Given the description of an element on the screen output the (x, y) to click on. 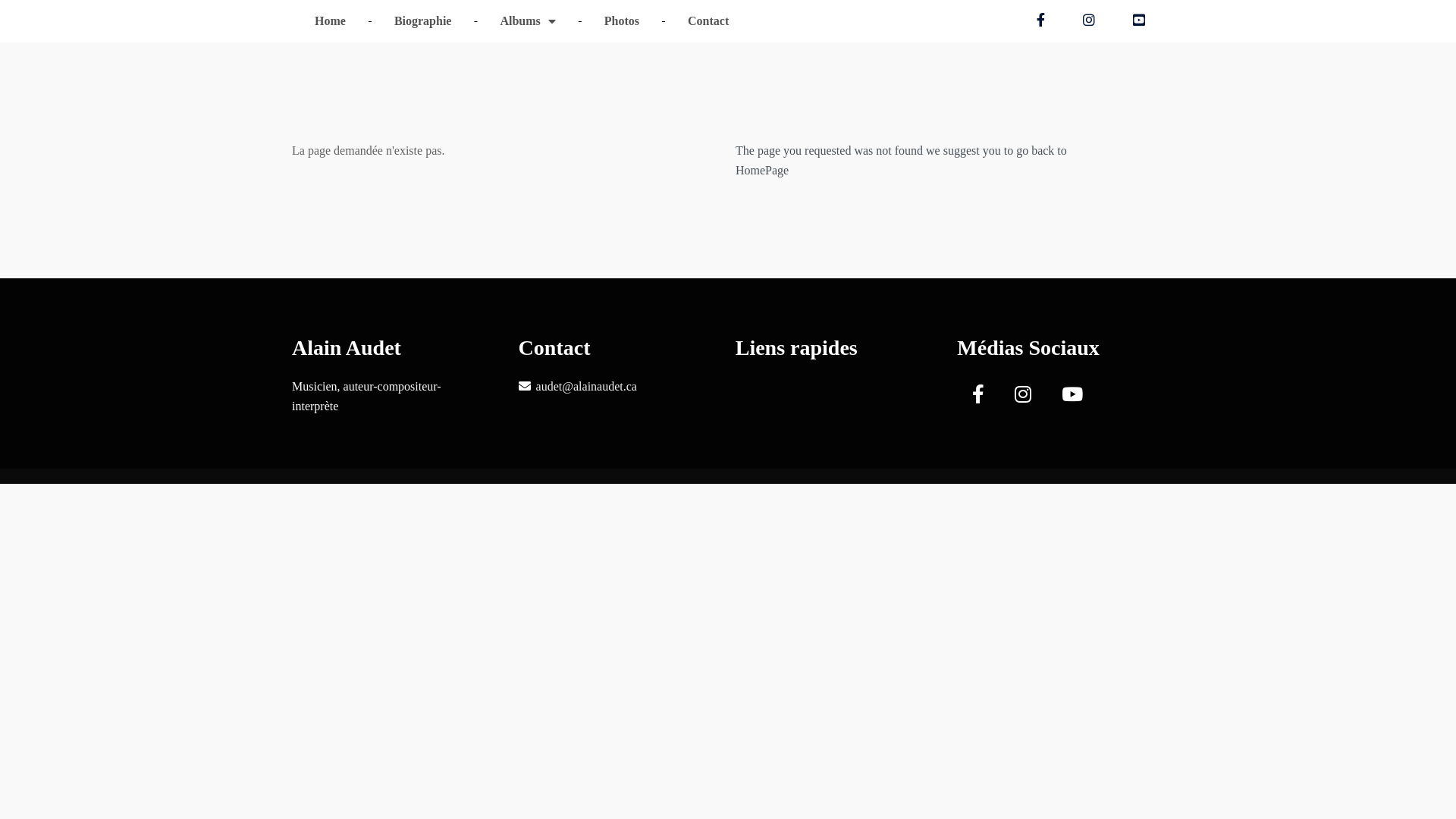
Photos Element type: text (621, 20)
Biographie Element type: text (422, 20)
Home Element type: text (329, 20)
audet@alainaudet.ca Element type: text (586, 386)
Contact Element type: text (708, 20)
Alain Audet Element type: text (385, 348)
Albums Element type: text (526, 20)
